Given the description of an element on the screen output the (x, y) to click on. 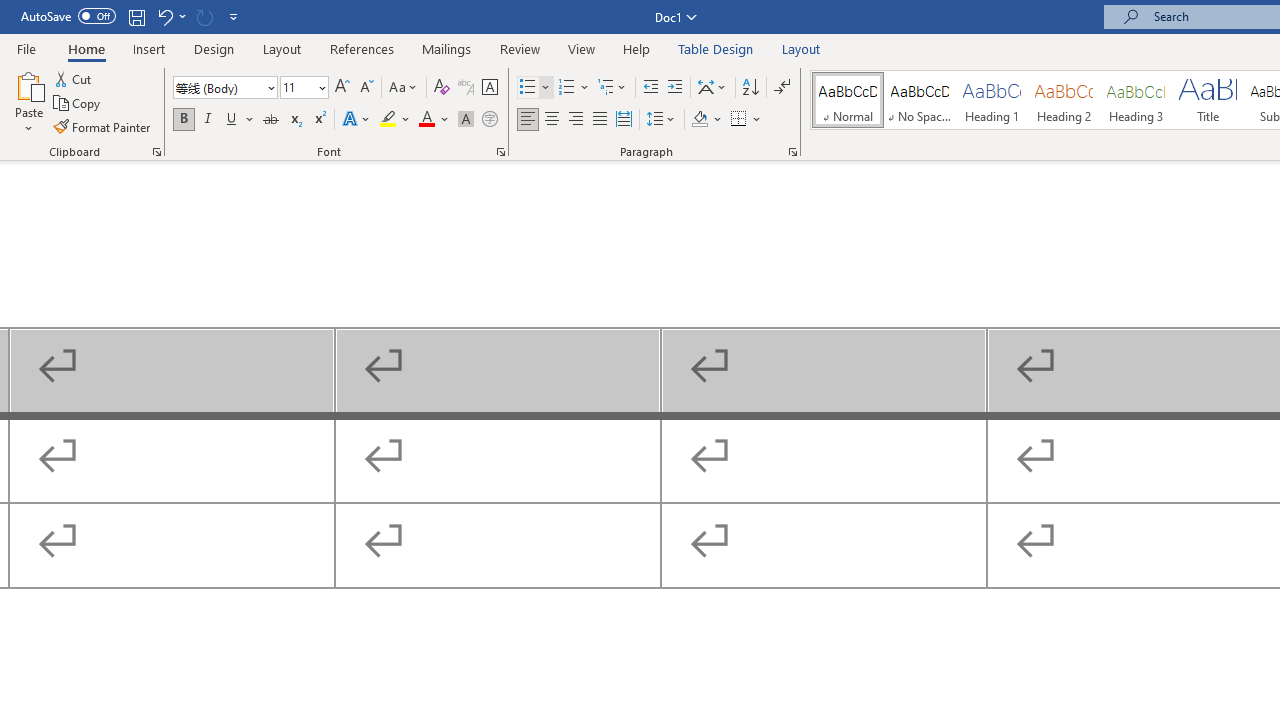
Undo Outline Move Up (170, 15)
